Given the description of an element on the screen output the (x, y) to click on. 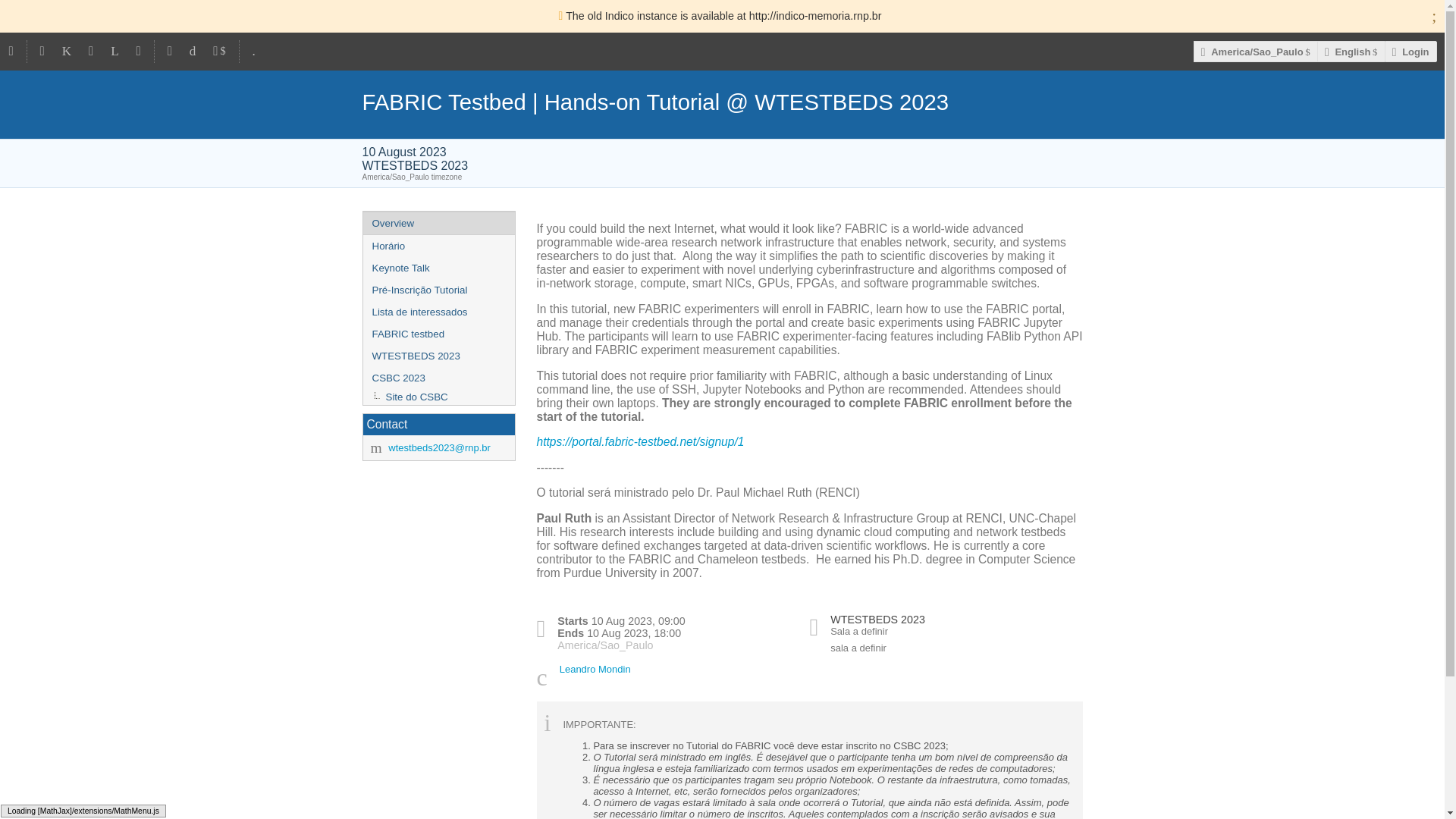
Keynote Talk (437, 268)
CSBC 2023 (437, 377)
Overview (437, 223)
Site do CSBC (437, 396)
Log in to see their email address (594, 668)
Leandro Mondin (594, 668)
English (1350, 51)
Lista de interessados (437, 311)
FABRIC testbed (437, 333)
Login (1410, 51)
